Given the description of an element on the screen output the (x, y) to click on. 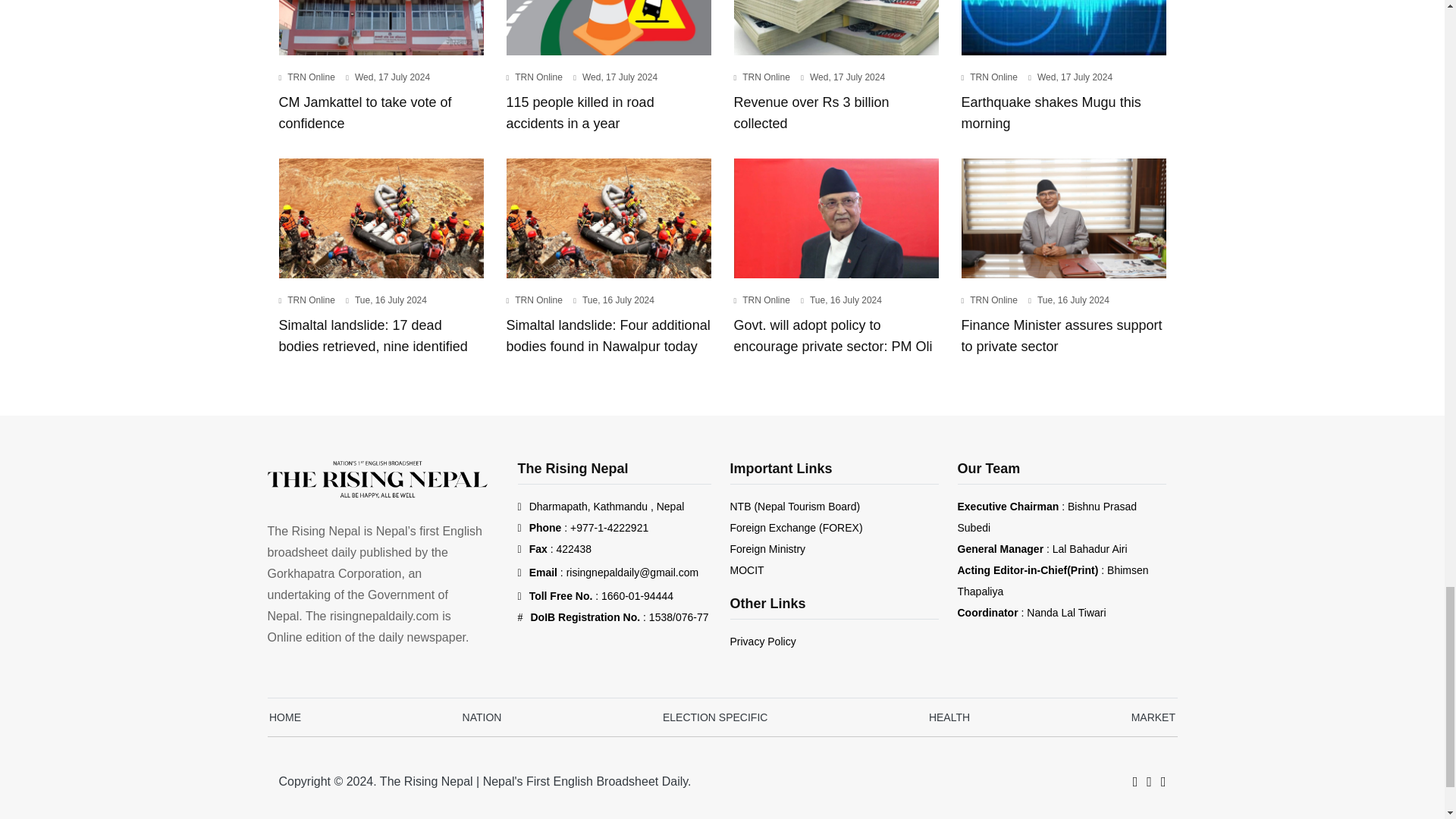
Suchana tahtaa sanchaar mantralya (745, 570)
